Given the description of an element on the screen output the (x, y) to click on. 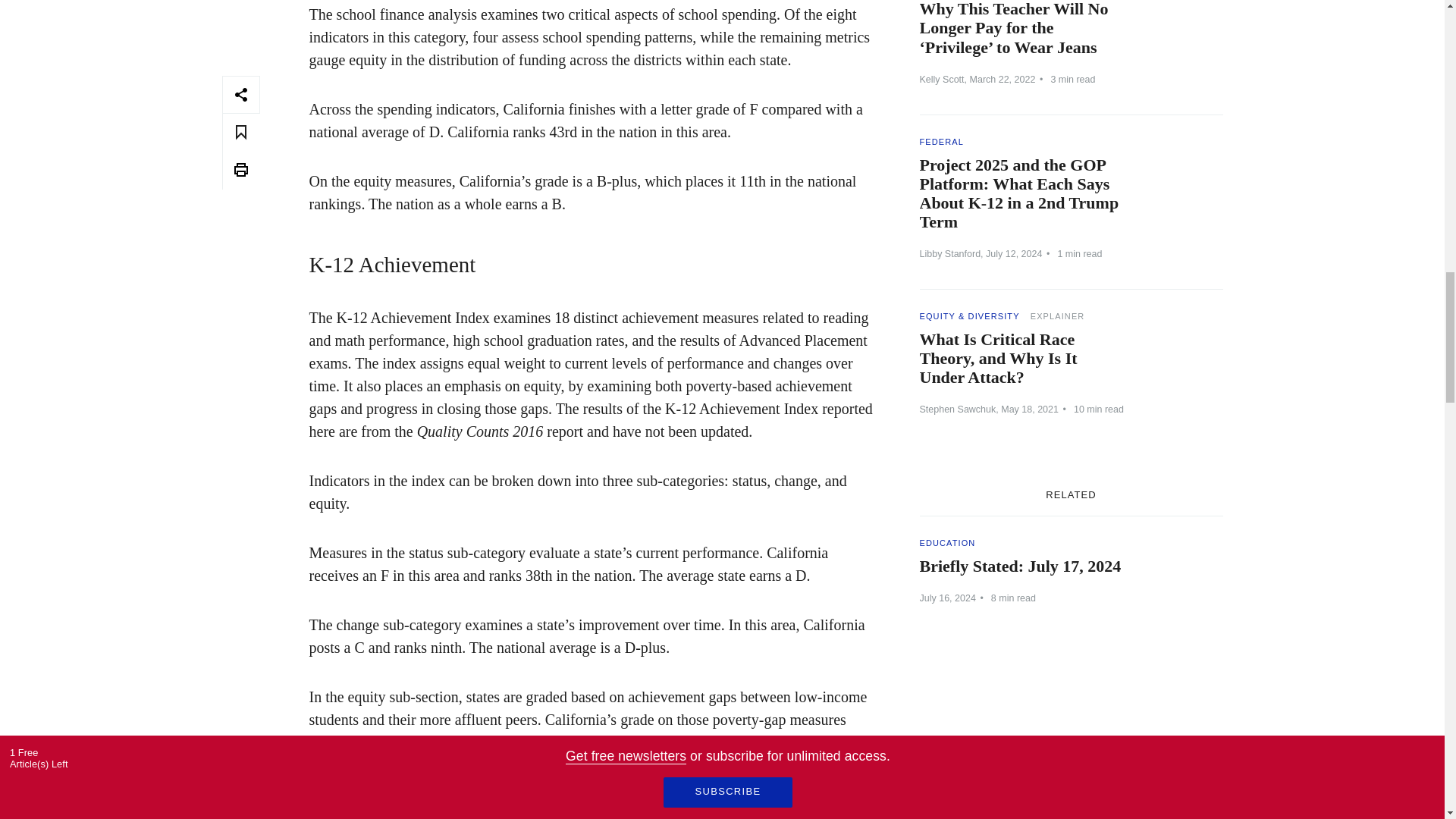
3rd party ad content (1070, 742)
